Given the description of an element on the screen output the (x, y) to click on. 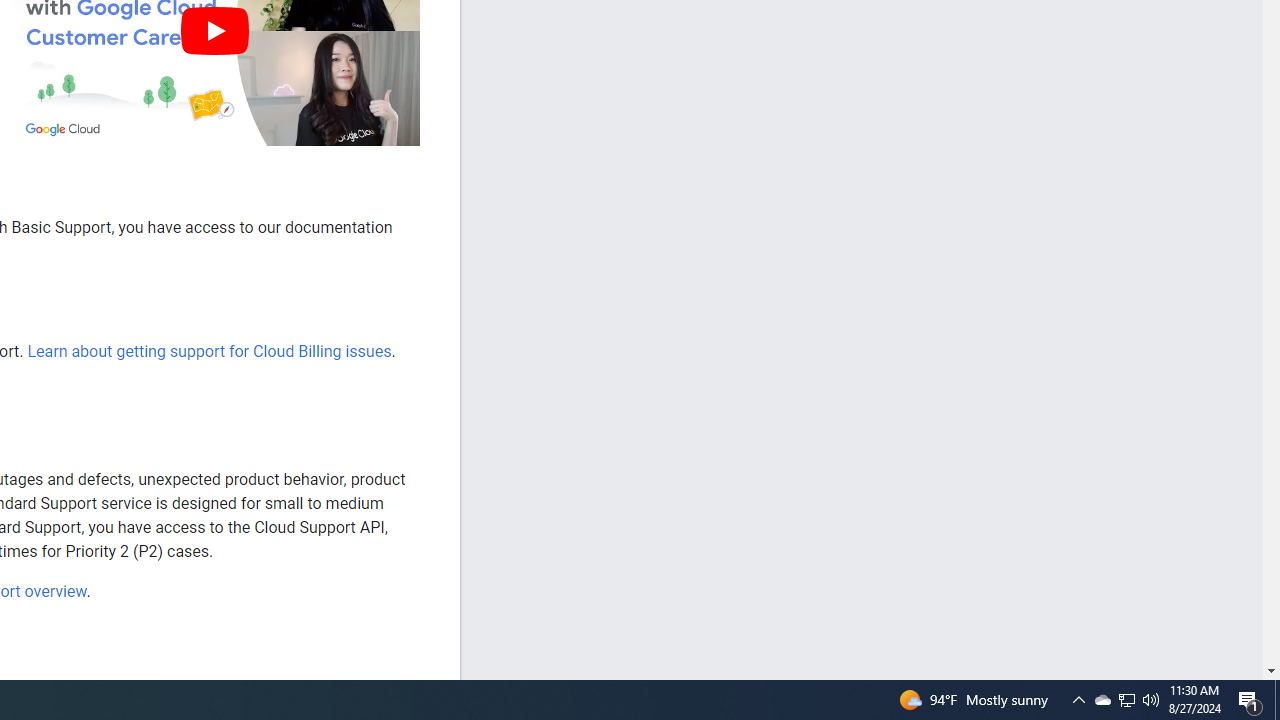
Play (214, 29)
Learn about getting support for Cloud Billing issues (208, 351)
